Given the description of an element on the screen output the (x, y) to click on. 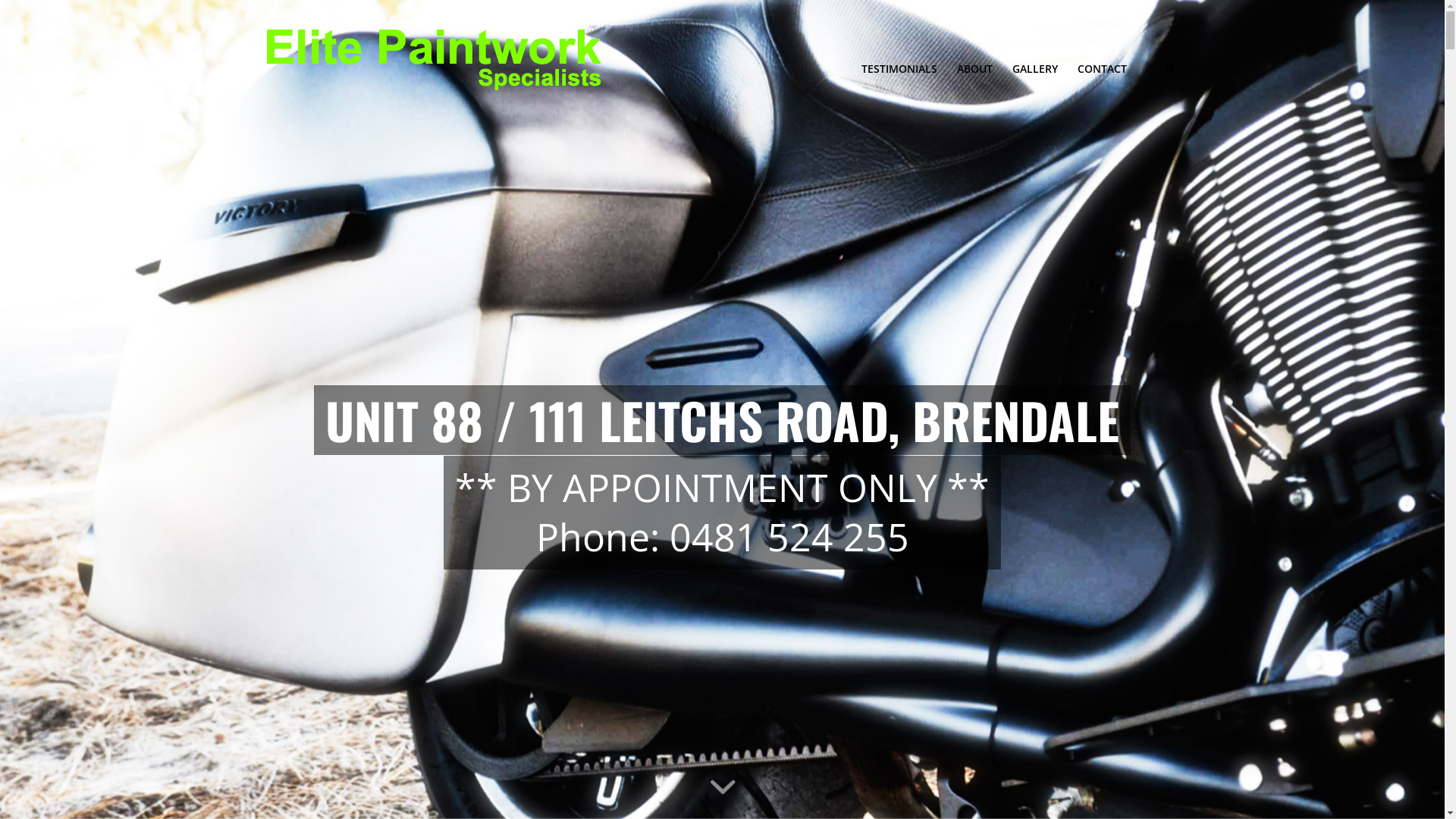
Instagram Element type: hover (1169, 67)
GALLERY Element type: text (1034, 68)
CONTACT Element type: text (1096, 68)
ABOUT Element type: text (973, 68)
TESTIMONIALS Element type: text (898, 68)
